Given the description of an element on the screen output the (x, y) to click on. 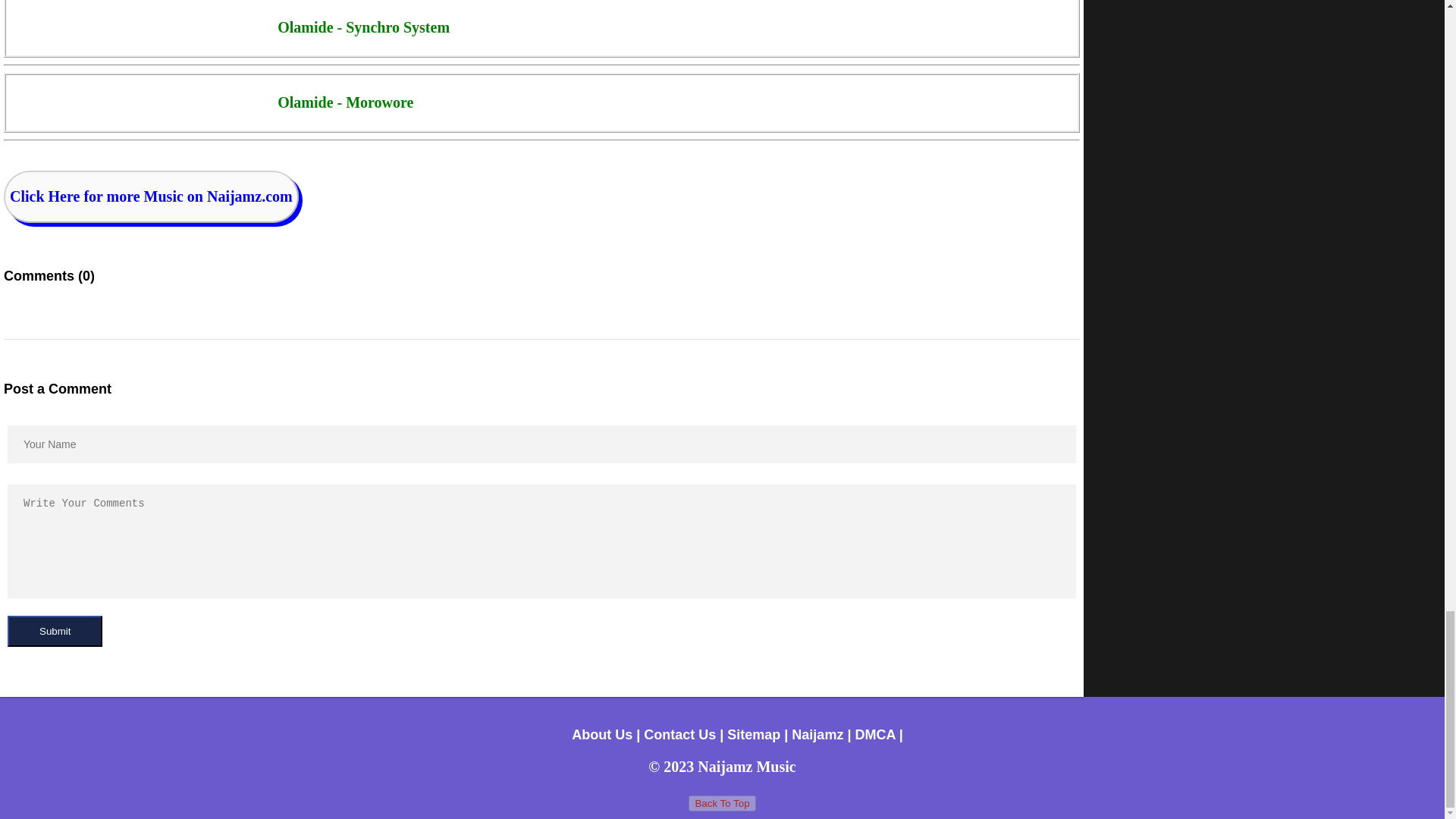
Go to top (721, 803)
